Given the description of an element on the screen output the (x, y) to click on. 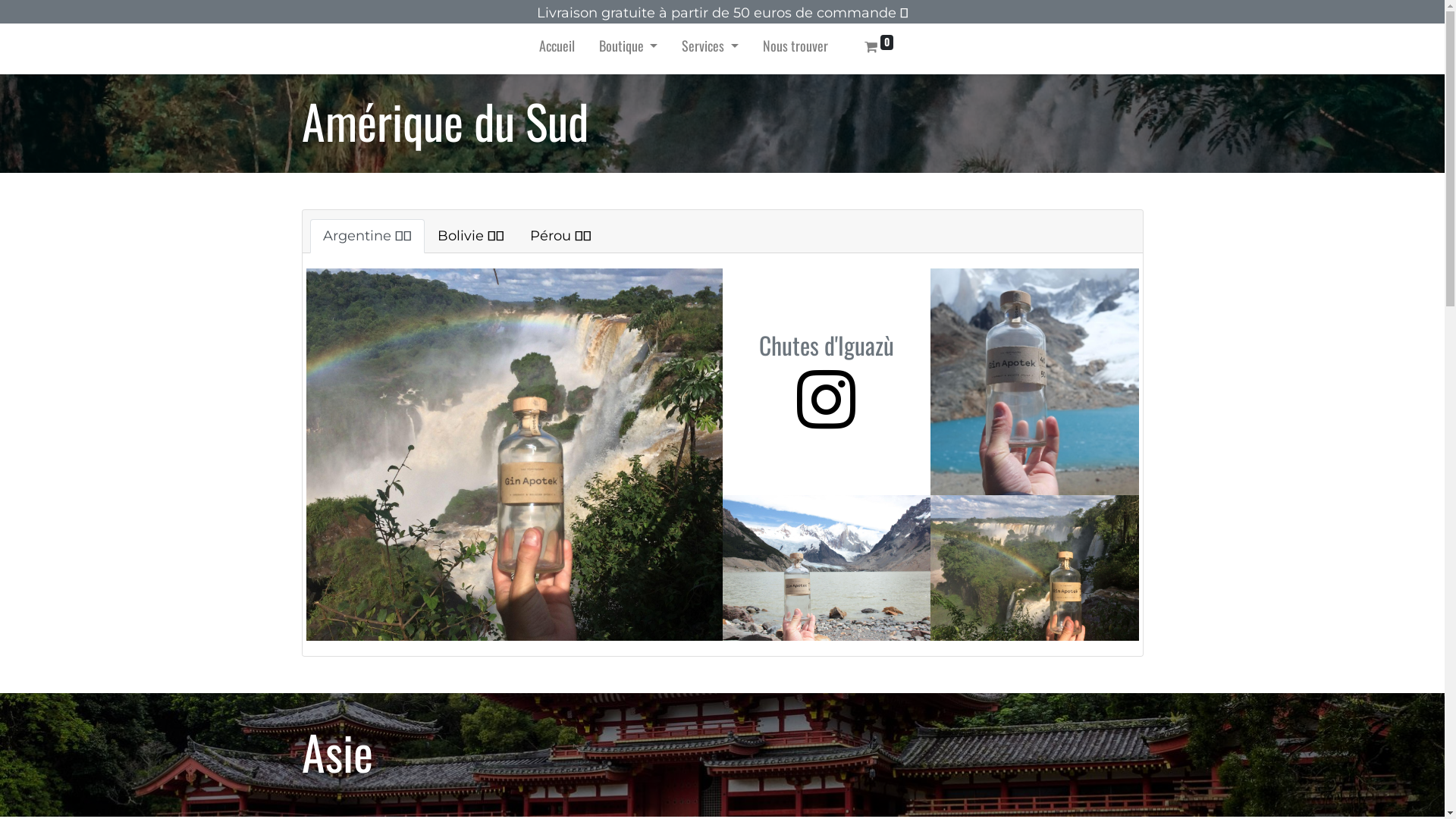
Services Element type: text (709, 48)
0 Element type: text (879, 48)
Accueil Element type: text (556, 48)
Nous trouver Element type: text (795, 48)
Boutique Element type: text (628, 48)
